Given the description of an element on the screen output the (x, y) to click on. 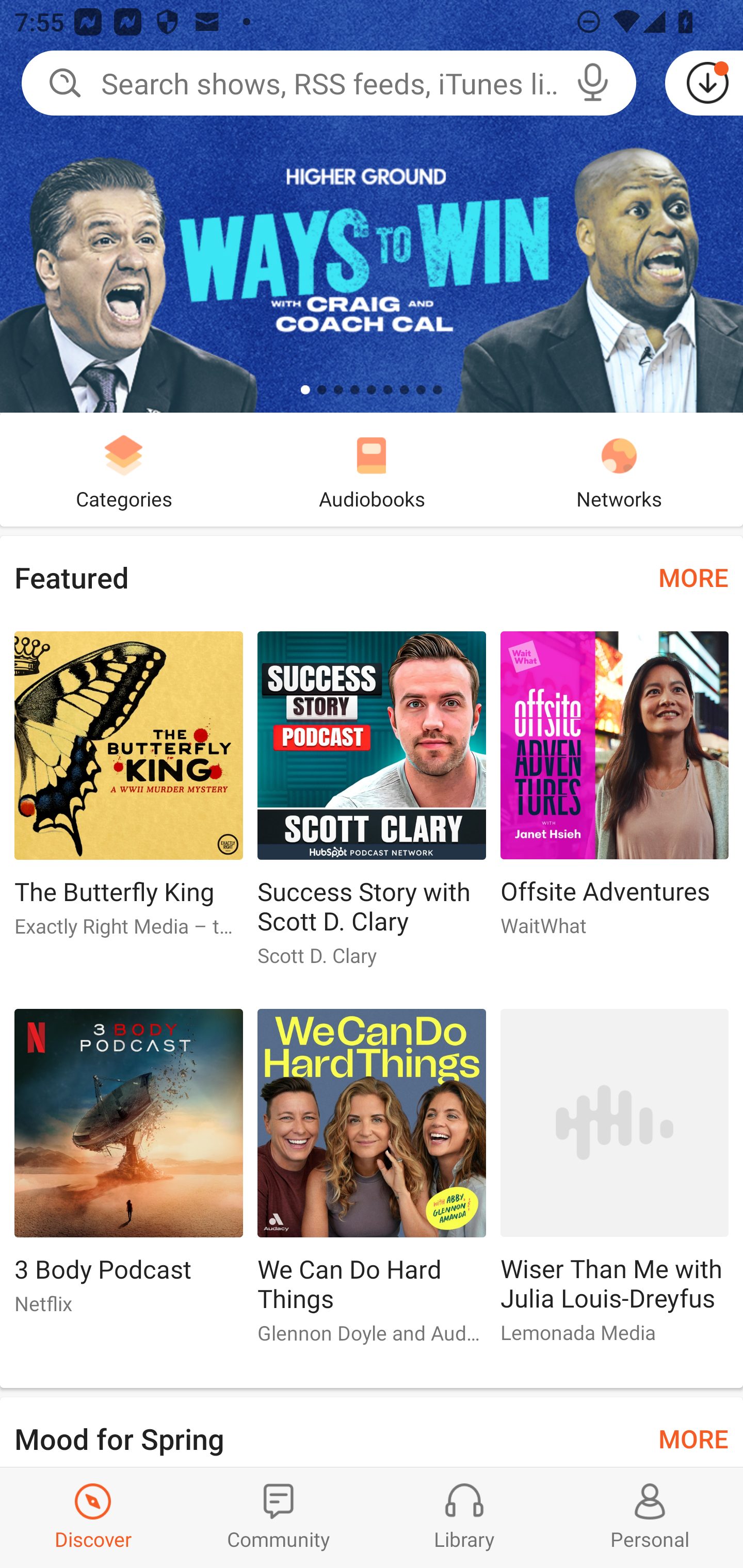
Ways To Win (371, 206)
Categories (123, 469)
Audiobooks (371, 469)
Networks (619, 469)
MORE (693, 576)
Offsite Adventures Offsite Adventures WaitWhat (614, 792)
3 Body Podcast 3 Body Podcast Netflix (128, 1169)
MORE (693, 1436)
Discover (92, 1517)
Community (278, 1517)
Library (464, 1517)
Profiles and Settings Personal (650, 1517)
